Given the description of an element on the screen output the (x, y) to click on. 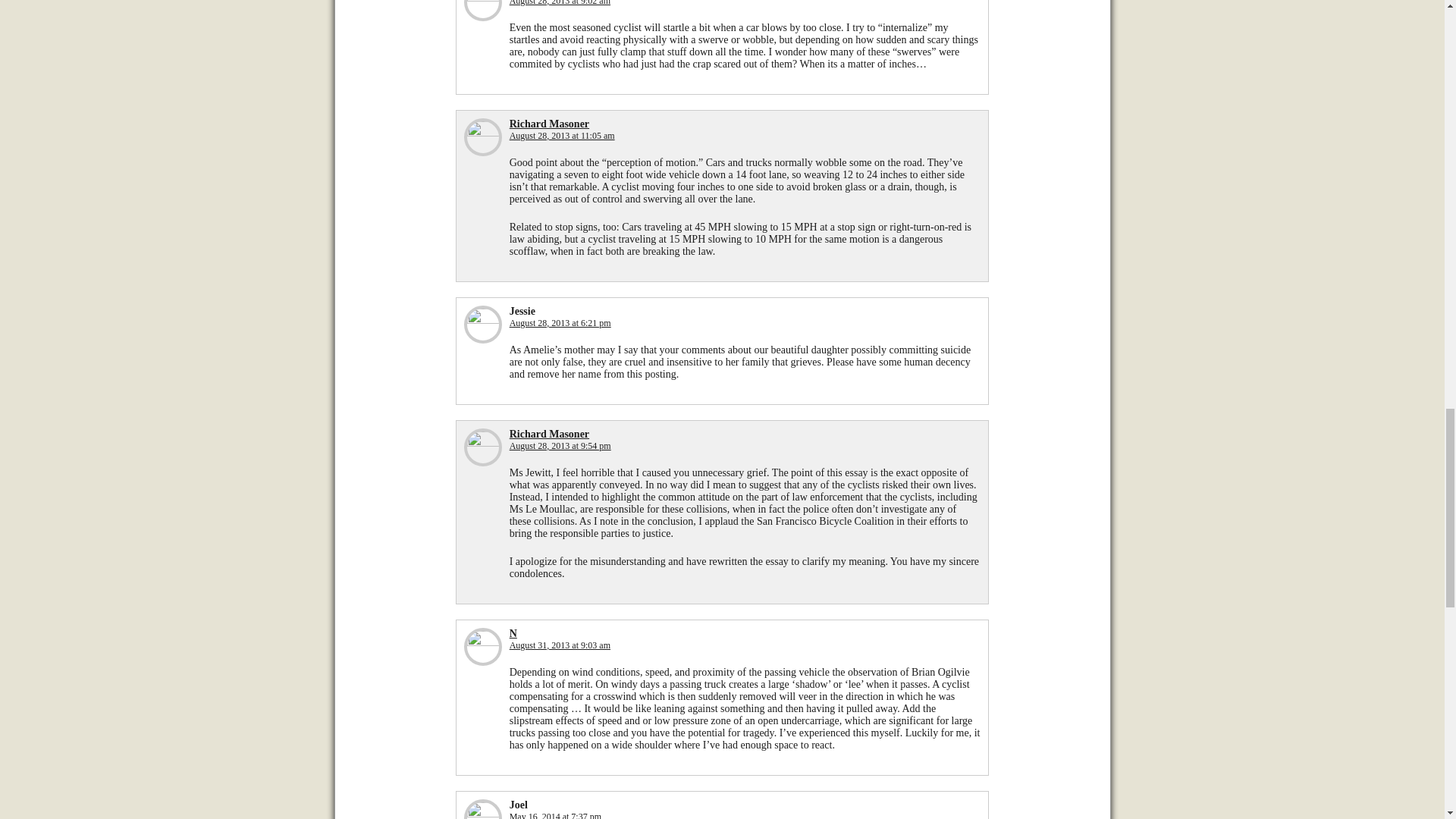
Richard Masoner (549, 433)
Richard Masoner (549, 123)
August 28, 2013 at 11:05 am (561, 135)
August 28, 2013 at 9:02 am (559, 2)
August 28, 2013 at 9:54 pm (560, 445)
August 28, 2013 at 6:21 pm (560, 322)
